Given the description of an element on the screen output the (x, y) to click on. 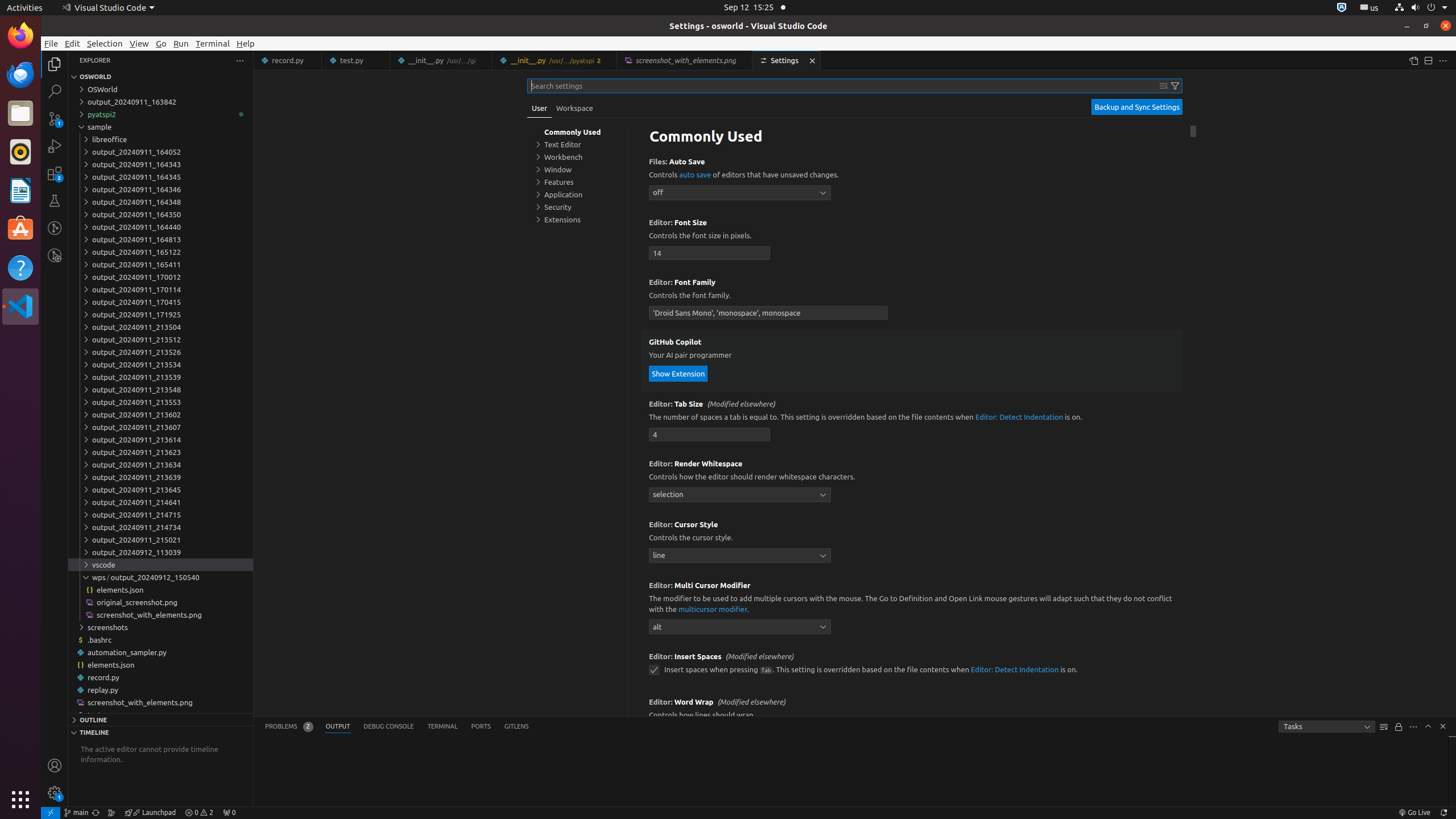
selection Element type: menu-item (739, 494)
screenshot_with_elements.png, preview Element type: page-tab (685, 60)
output_20240911_165122 Element type: tree-item (160, 251)
Notifications Element type: push-button (1443, 812)
Ports Element type: page-tab (480, 726)
